Given the description of an element on the screen output the (x, y) to click on. 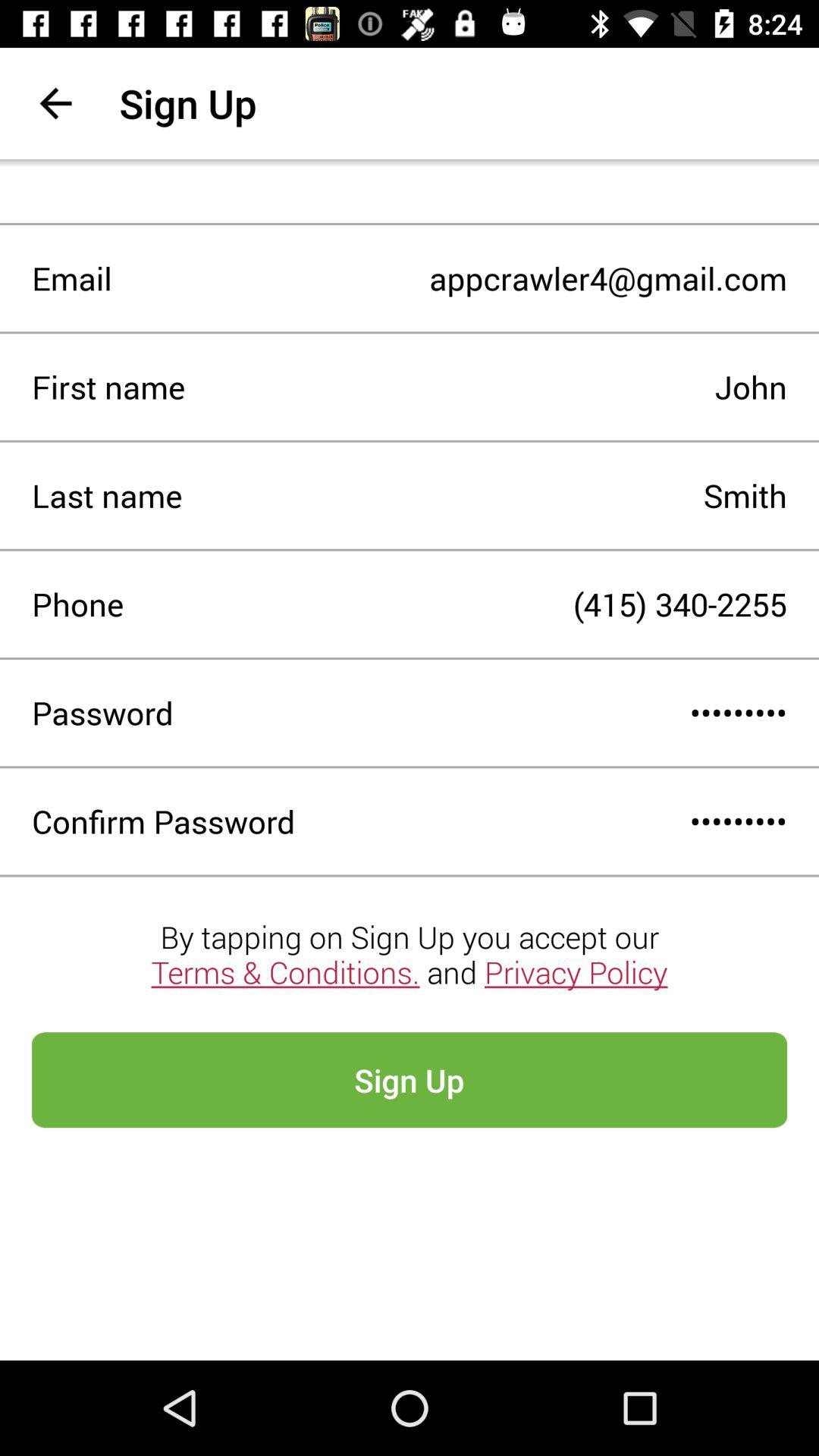
tap the (415) 340-2255 item (455, 603)
